Given the description of an element on the screen output the (x, y) to click on. 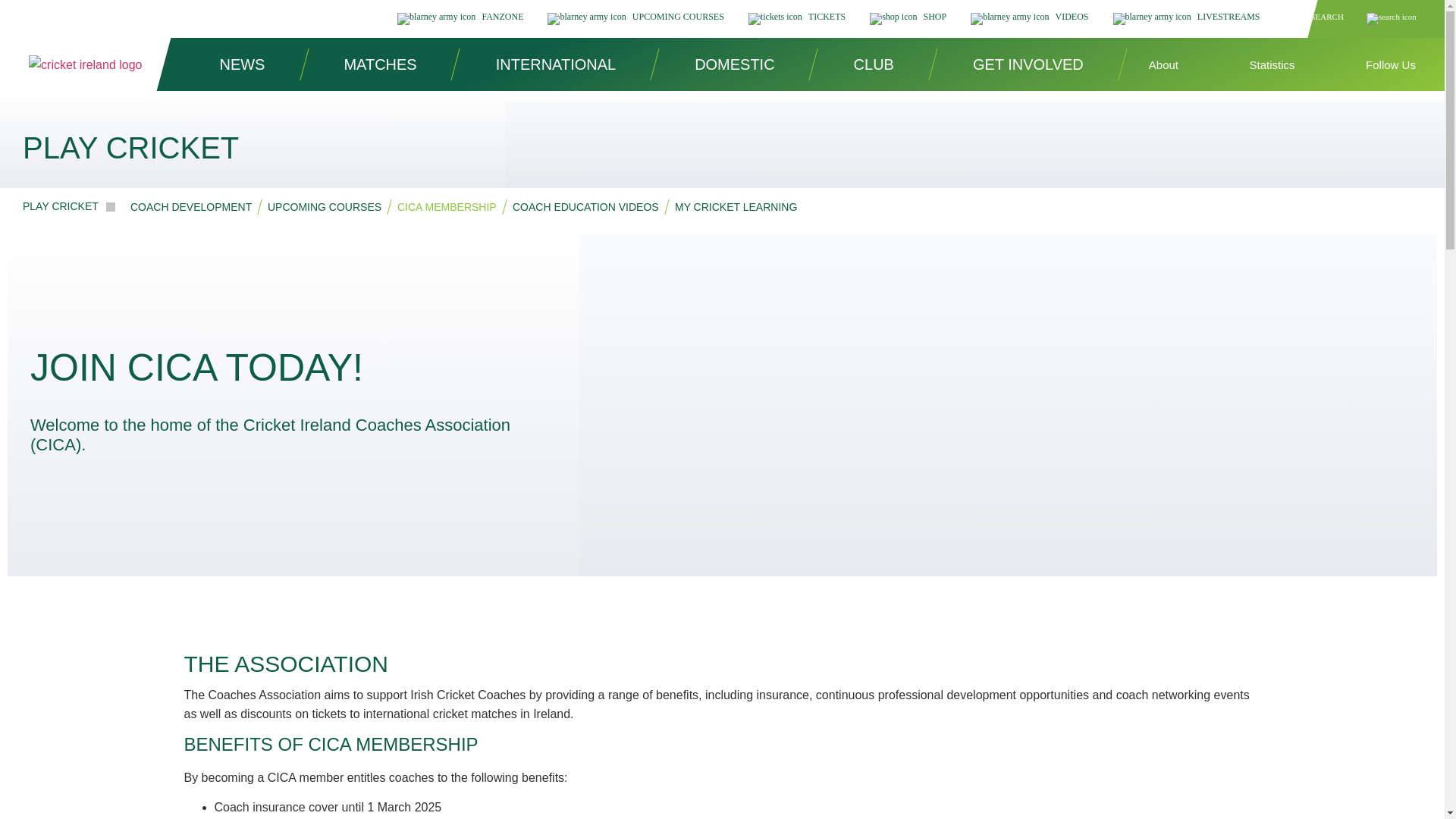
SHOP (907, 19)
TICKETS (796, 19)
UPCOMING COURSES (635, 19)
MATCHES (379, 63)
VIDEOS (1029, 19)
SEARCH (1362, 19)
NEWS (242, 63)
FANZONE (459, 19)
LIVESTREAMS (1186, 19)
